Given the description of an element on the screen output the (x, y) to click on. 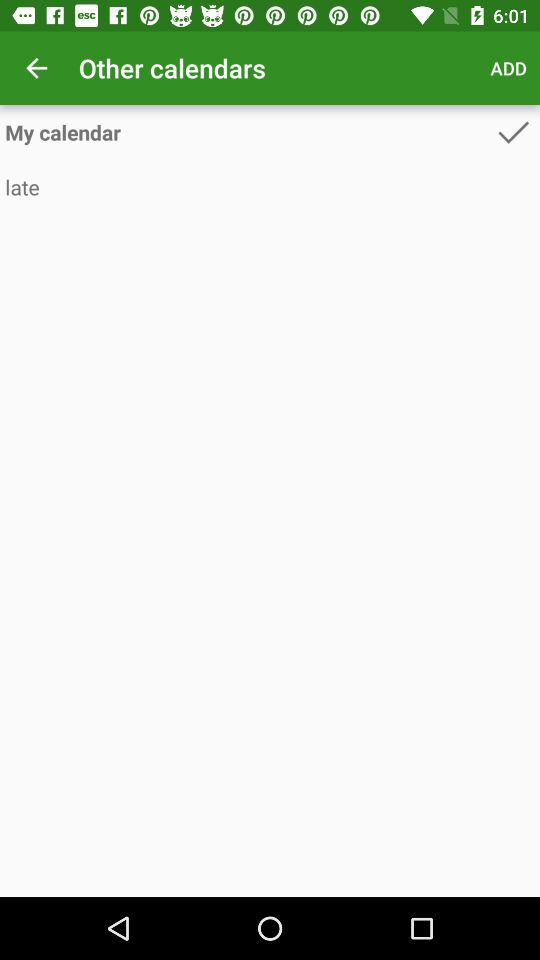
open item above late icon (248, 132)
